Given the description of an element on the screen output the (x, y) to click on. 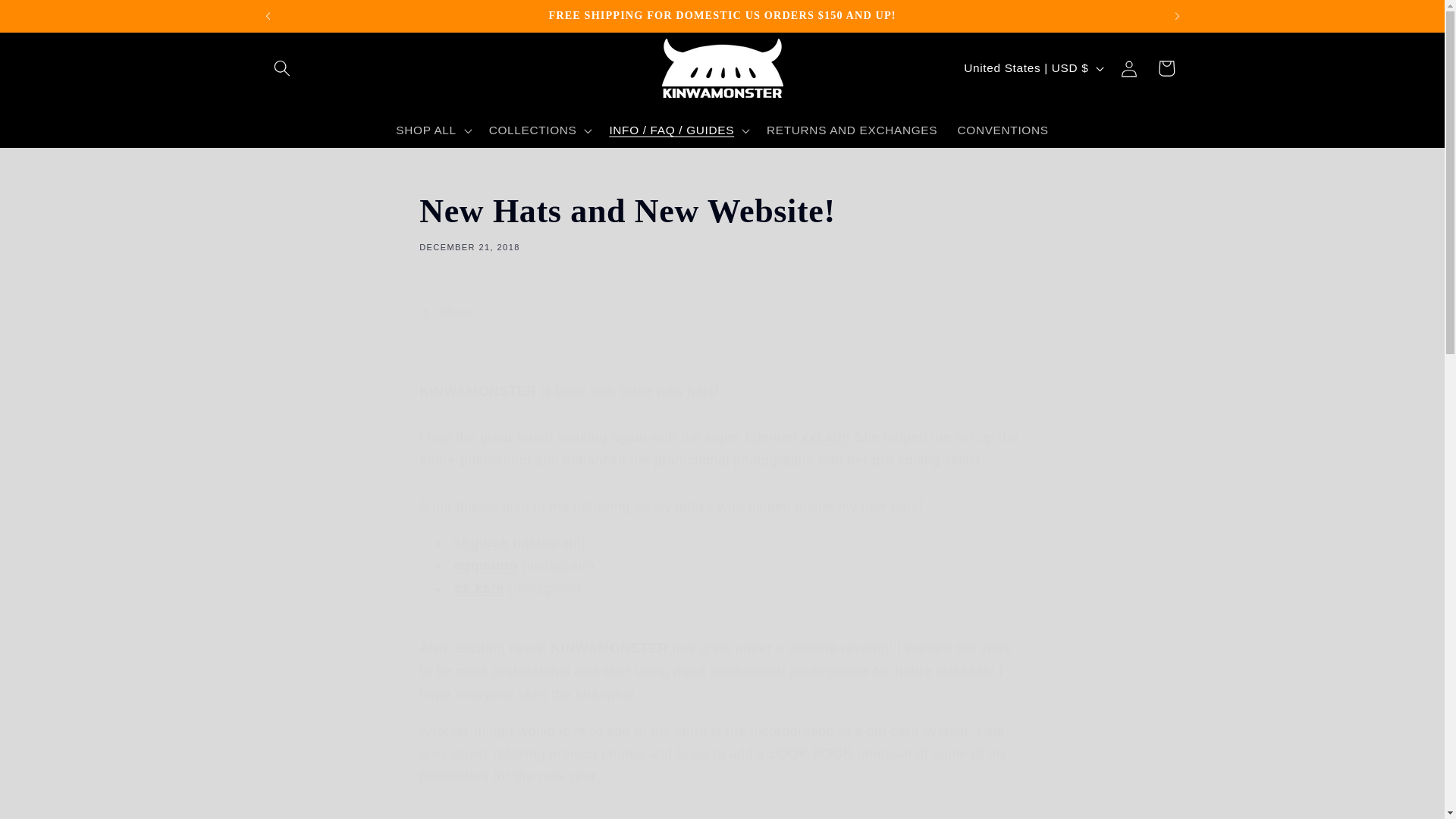
Skip to content (722, 220)
Share (51, 20)
